Given the description of an element on the screen output the (x, y) to click on. 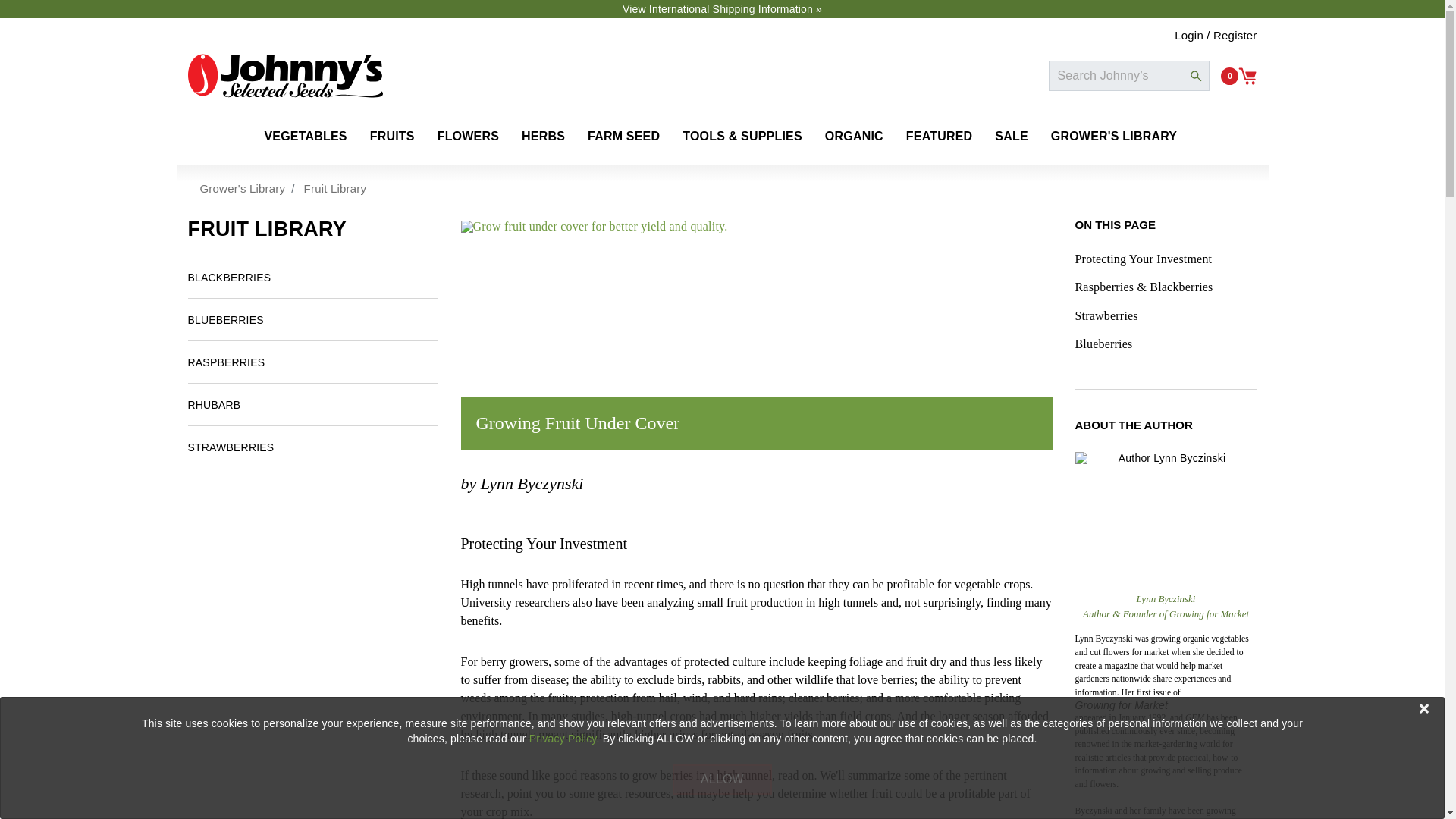
International Shipping Information (722, 9)
Cart 0 Items (1238, 75)
VEGETABLES (304, 136)
Johnny's Selected Seeds (284, 75)
